Given the description of an element on the screen output the (x, y) to click on. 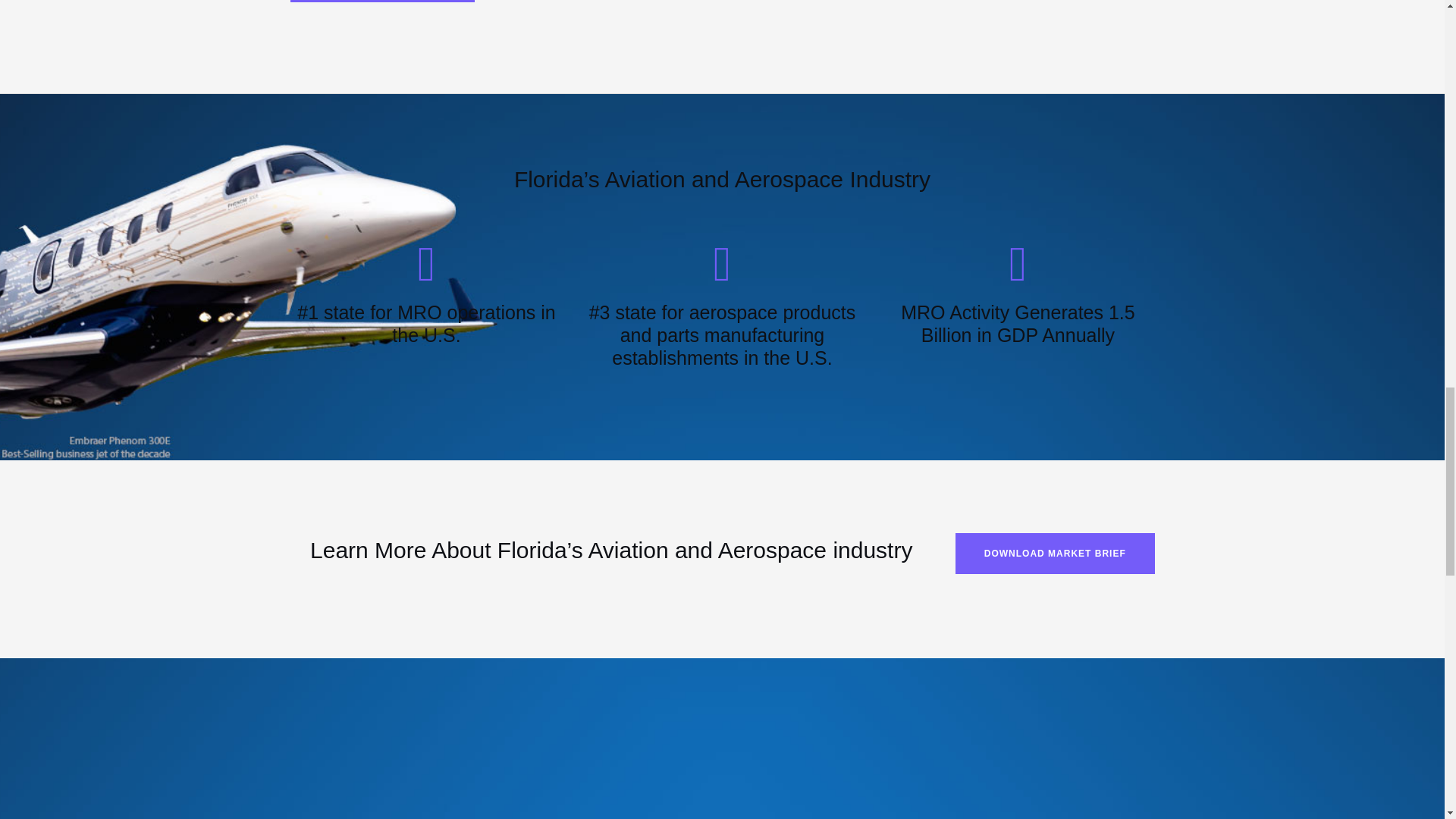
DOWNLOAD INDUSTRY MAP (381, 1)
DOWNLOAD MARKET BRIEF (1054, 553)
